Given the description of an element on the screen output the (x, y) to click on. 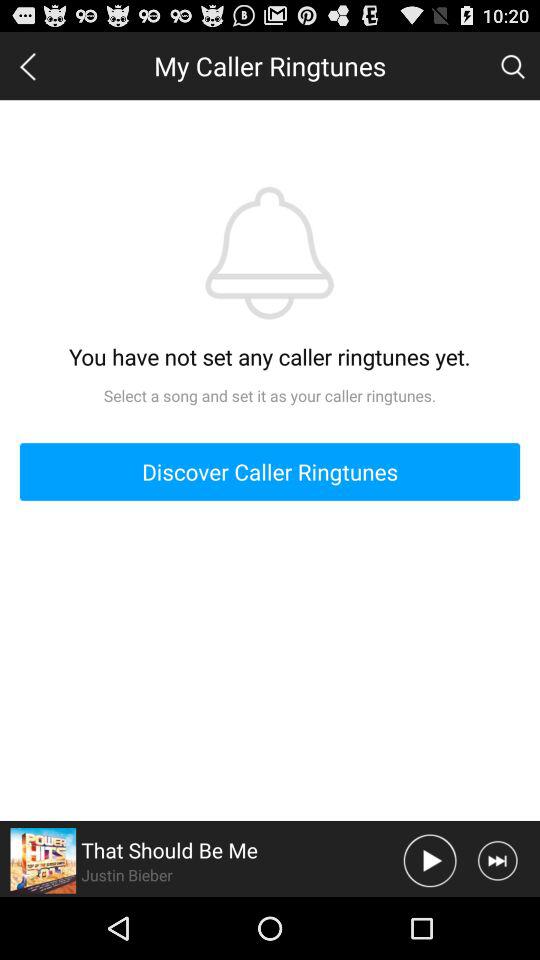
play movie (429, 860)
